Given the description of an element on the screen output the (x, y) to click on. 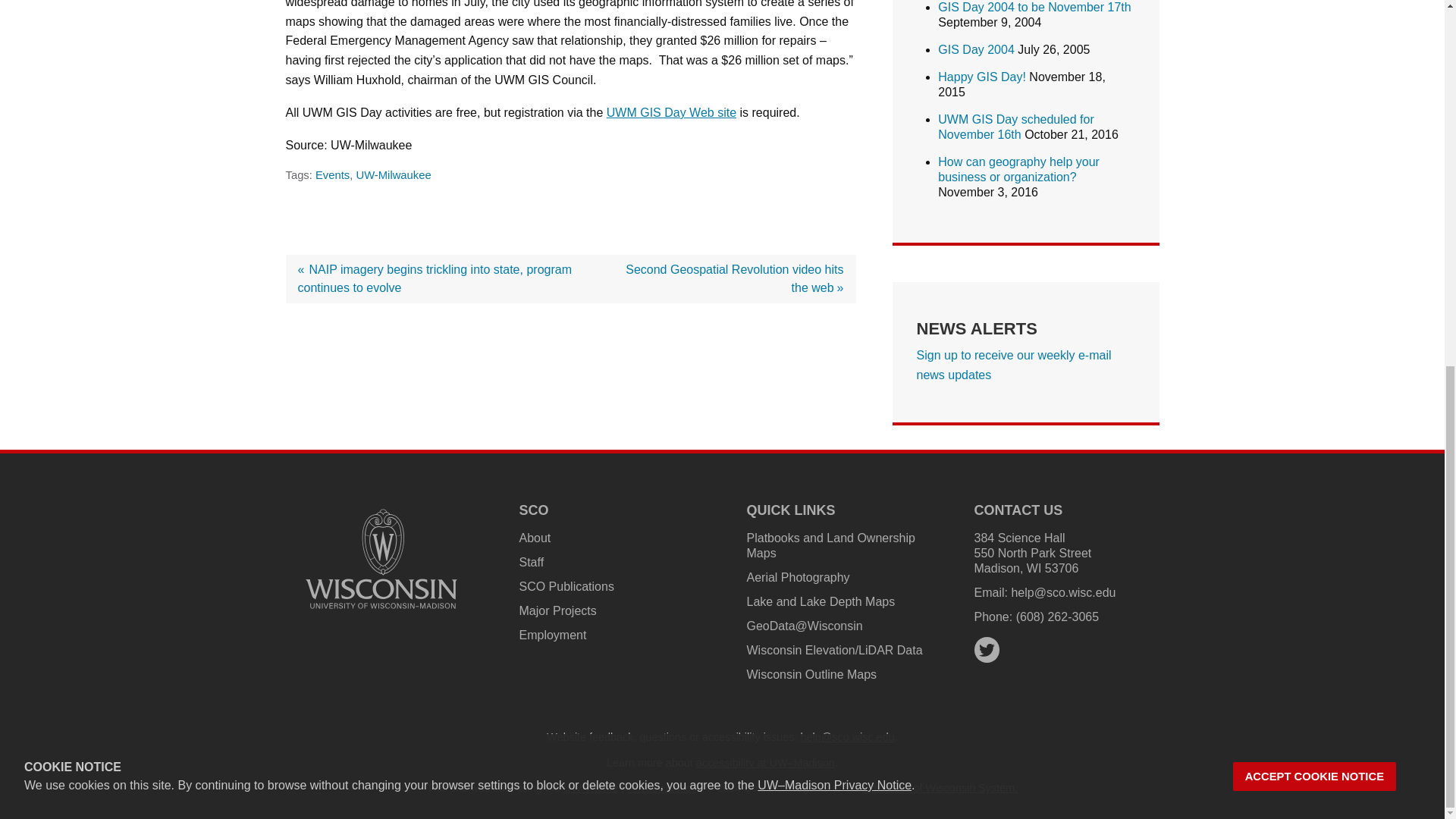
twitter (986, 650)
University logo that links to main university website (380, 558)
ACCEPT COOKIE NOTICE (1314, 118)
